Given the description of an element on the screen output the (x, y) to click on. 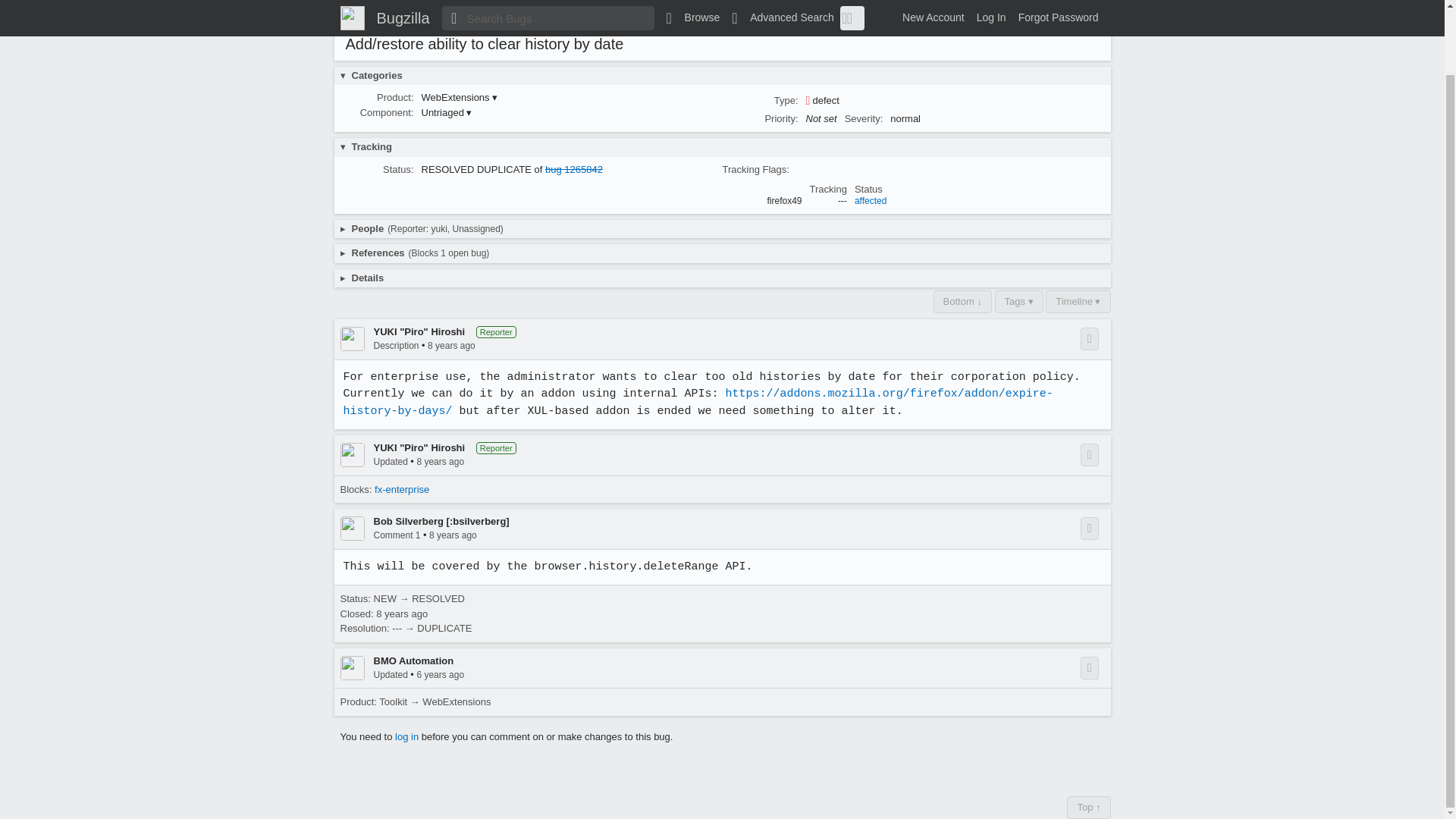
Type: (785, 100)
Product: (395, 97)
Bug 1269302 (428, 17)
Component: (386, 112)
2016-05-02 04:37 PDT (620, 16)
2016-05-02 03:11 PDT (528, 16)
